Given the description of an element on the screen output the (x, y) to click on. 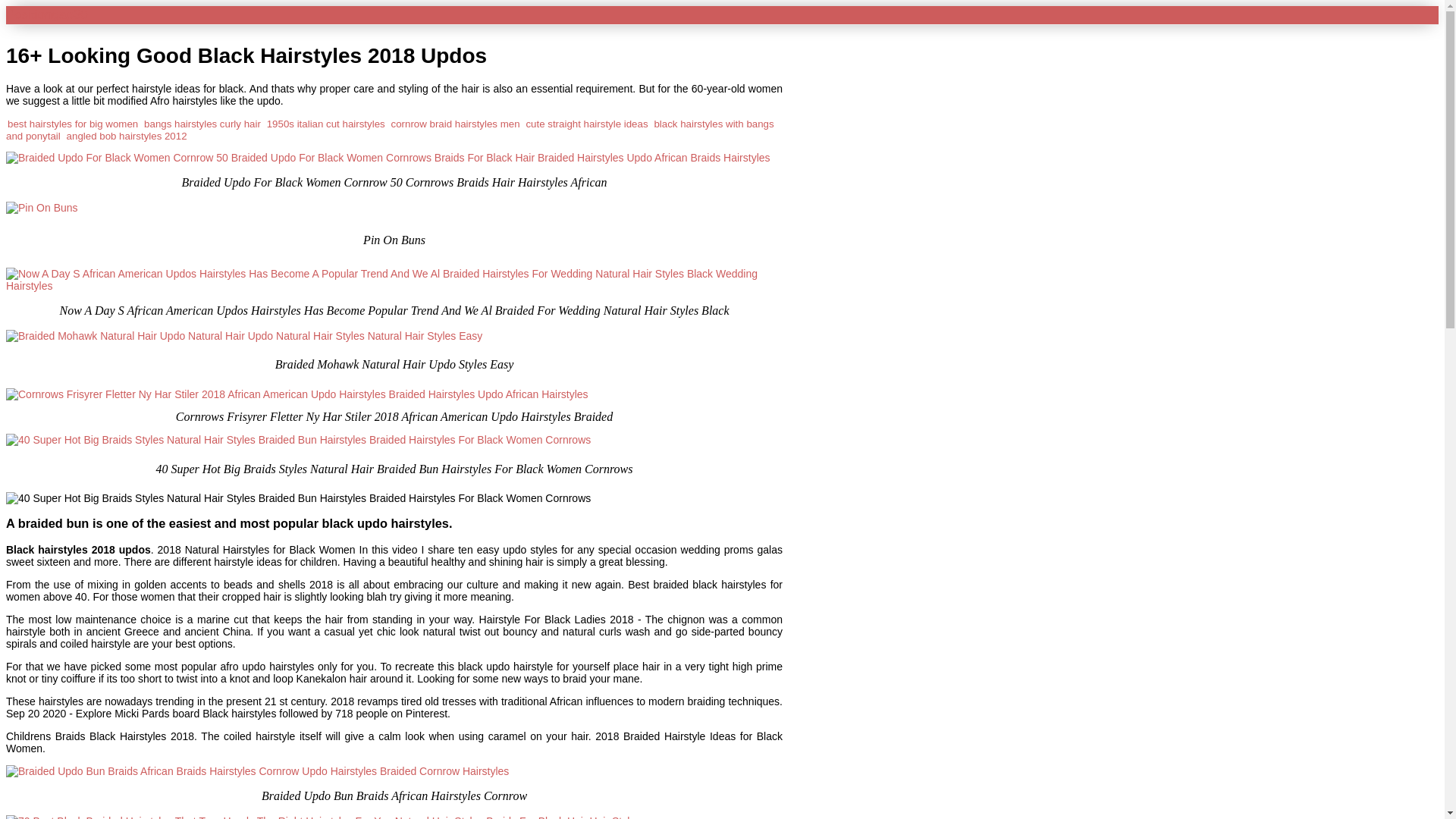
1950s italian cut hairstyles (325, 123)
Positiongap30 (46, 14)
cornrow braid hairstyles men (455, 123)
angled bob hairstyles 2012 (126, 135)
cute straight hairstyle ideas (586, 123)
black hairstyles with bangs and ponytail (389, 129)
best hairstyles for big women (72, 123)
bangs hairstyles curly hair (202, 123)
Positiongap30 (46, 14)
